Given the description of an element on the screen output the (x, y) to click on. 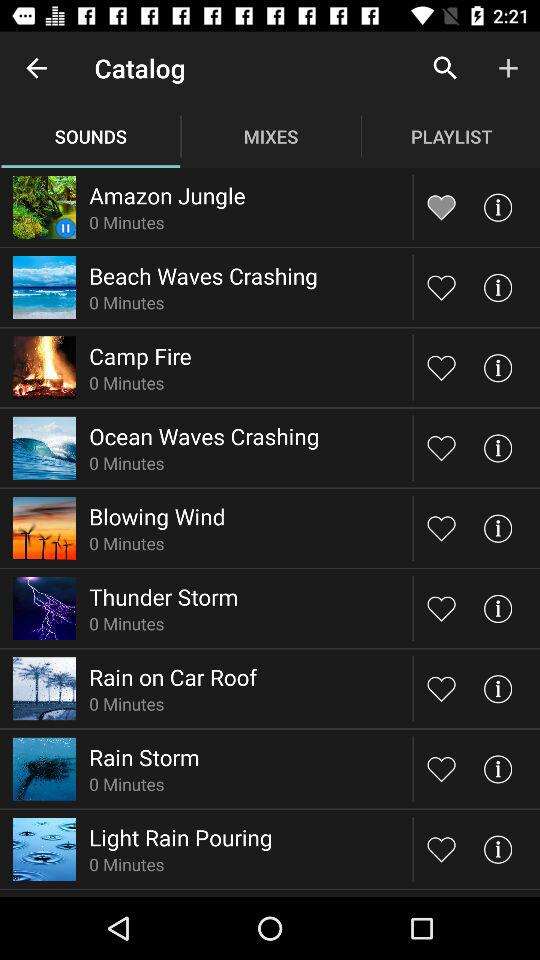
favorite the song (441, 527)
